Given the description of an element on the screen output the (x, y) to click on. 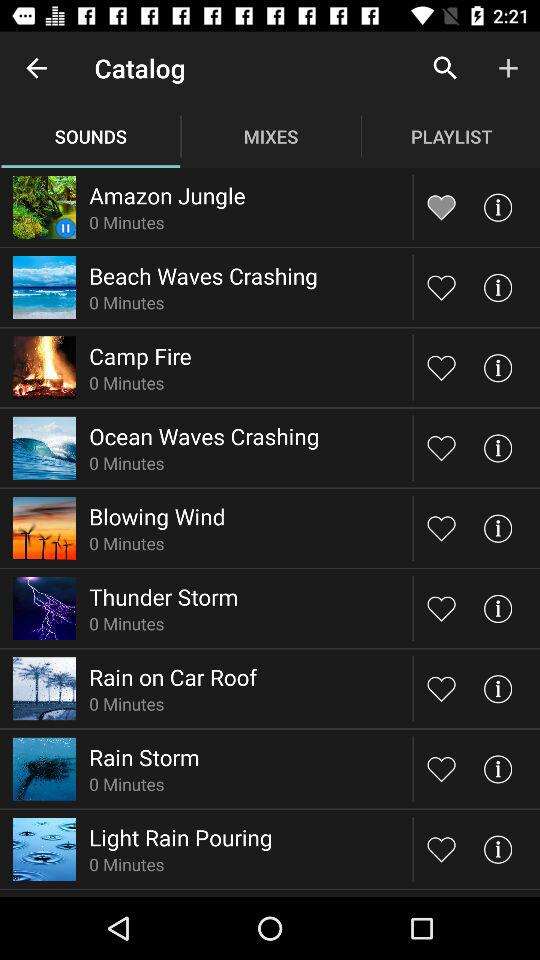
favorite the song (441, 527)
